Given the description of an element on the screen output the (x, y) to click on. 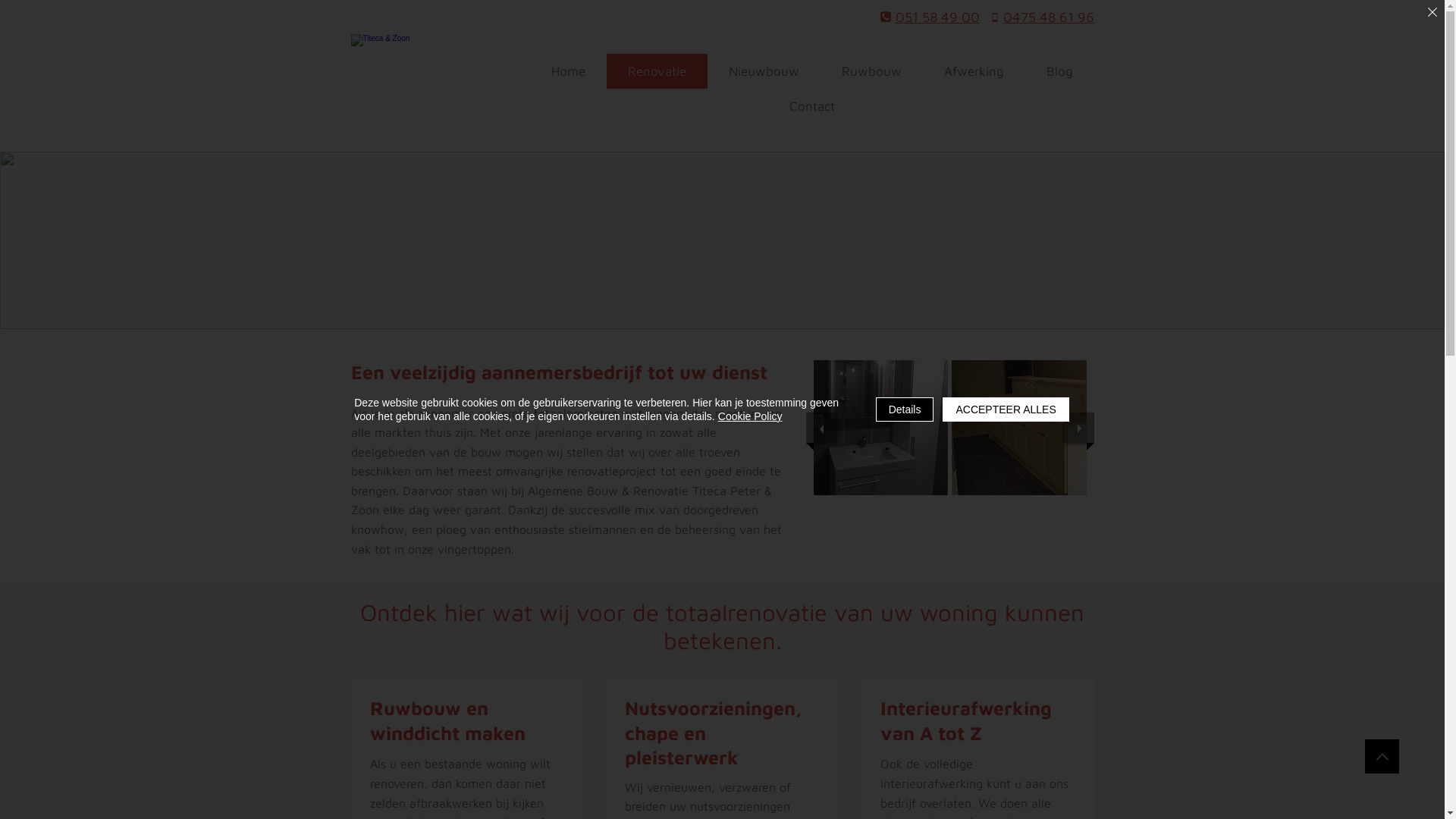
ACCEPTEER ALLES Element type: text (1005, 409)
Contact Element type: text (811, 105)
Home Element type: text (567, 70)
Afwerking Element type: text (973, 70)
Renovatie Element type: text (656, 70)
0475 48 61 96 Element type: text (1042, 17)
Details Element type: text (904, 409)
Nieuwbouw Element type: text (762, 70)
Cookie Policy Element type: text (750, 416)
Blog Element type: text (1059, 70)
051 58 49 00 Element type: text (929, 16)
Ruwbouw Element type: text (871, 70)
